Given the description of an element on the screen output the (x, y) to click on. 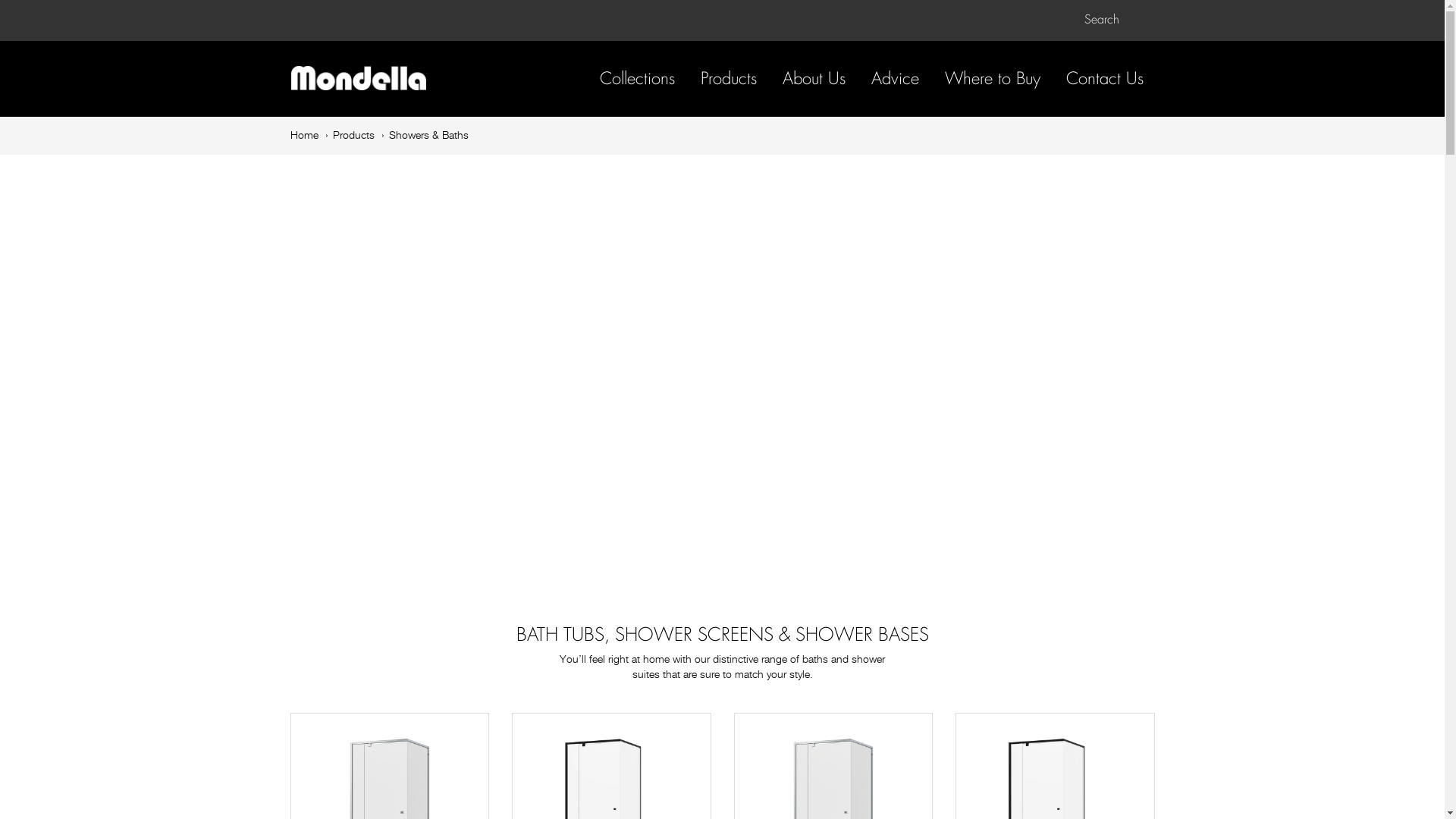
Contact Us Element type: text (1104, 79)
About Us Element type: text (813, 79)
Products Element type: text (728, 79)
Advice Element type: text (894, 79)
Collections Element type: text (636, 79)
Where to Buy Element type: text (992, 79)
Search Element type: text (1113, 20)
Products Element type: text (352, 135)
Home Element type: text (303, 135)
